Given the description of an element on the screen output the (x, y) to click on. 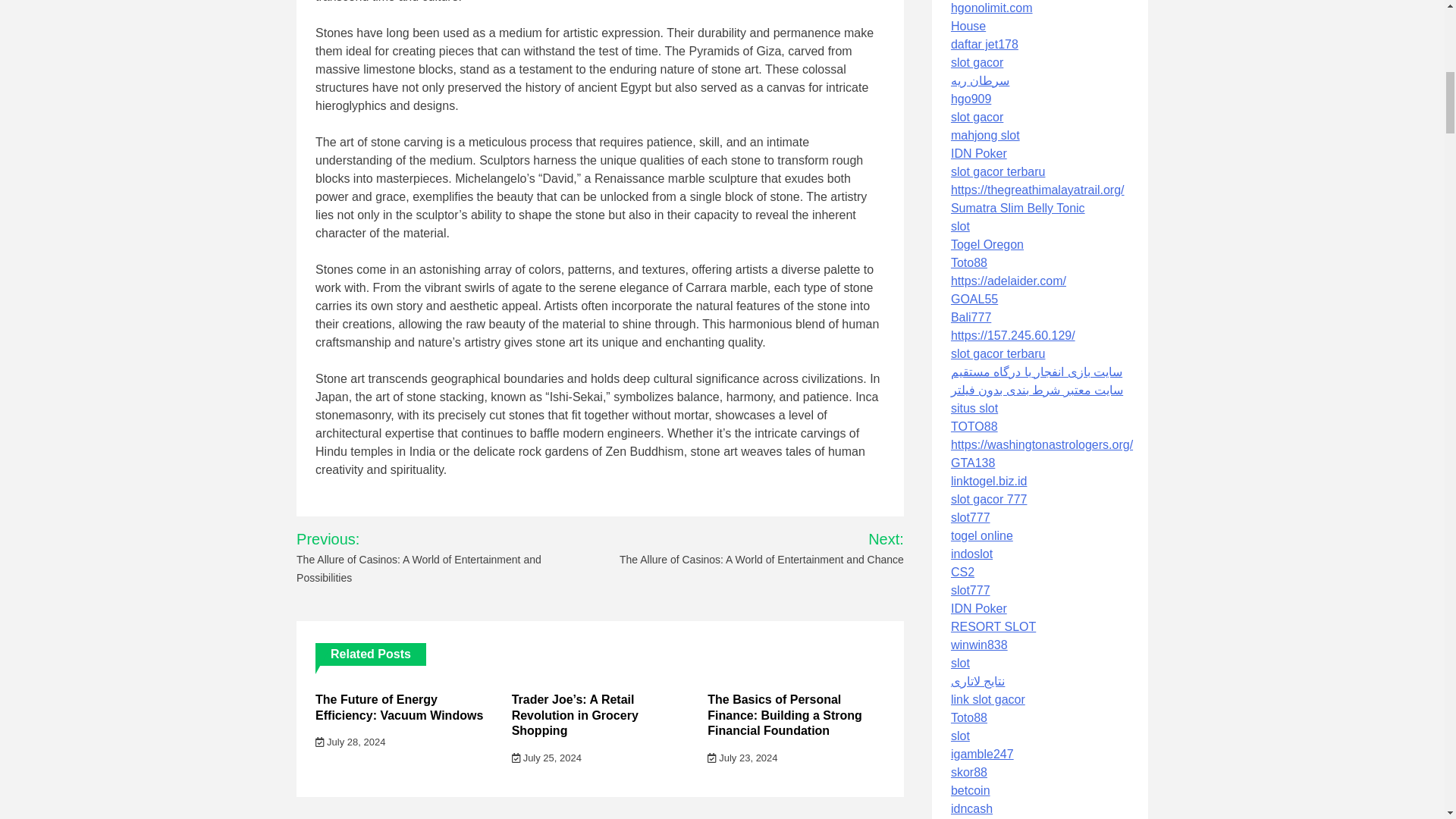
July 28, 2024 (350, 741)
July 23, 2024 (742, 757)
The Future of Energy Efficiency: Vacuum Windows (399, 706)
July 25, 2024 (546, 757)
